Given the description of an element on the screen output the (x, y) to click on. 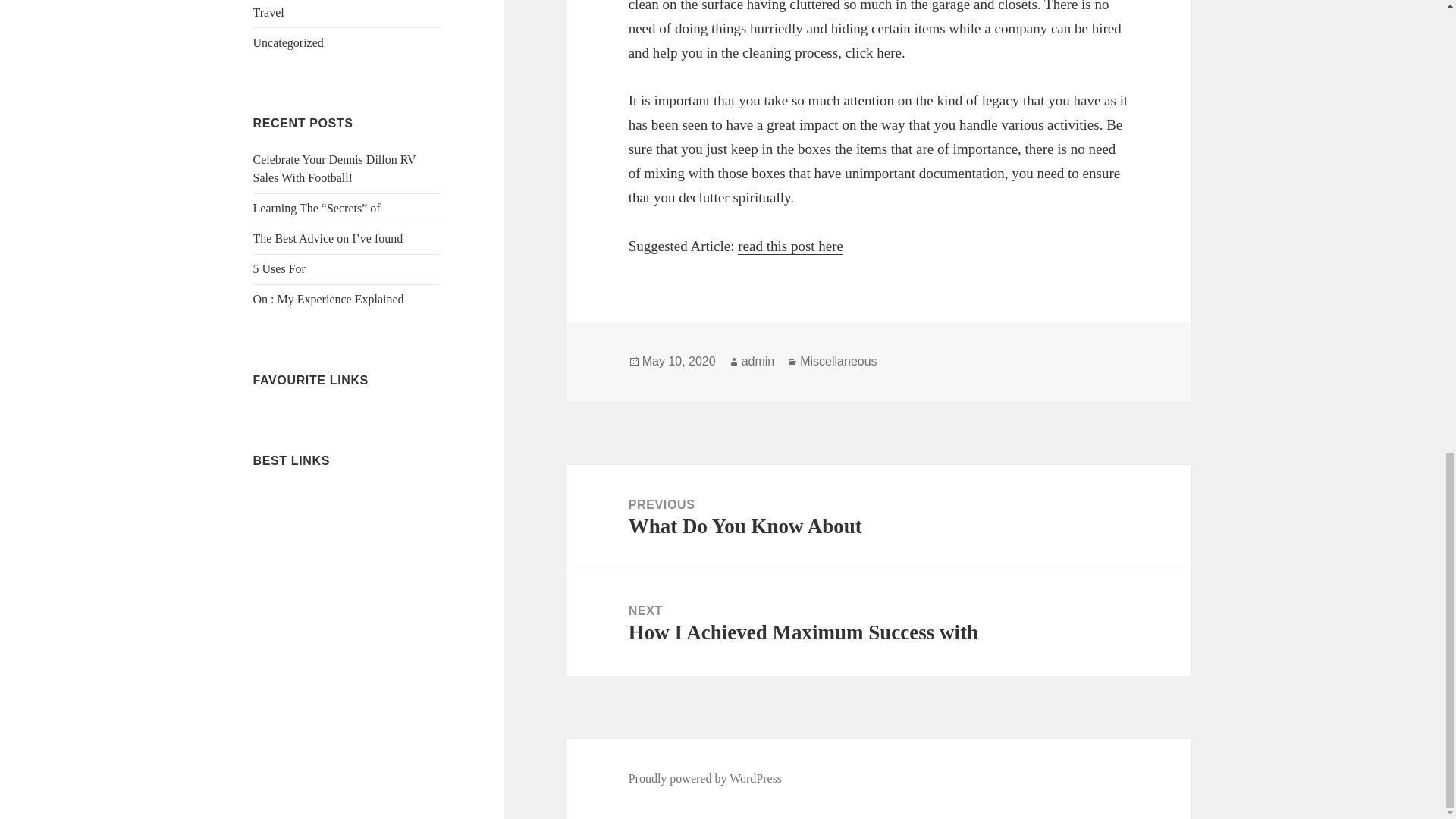
Travel (268, 11)
Celebrate Your Dennis Dillon RV Sales With Football! (334, 168)
On : My Experience Explained (328, 298)
May 10, 2020 (679, 361)
Uncategorized (288, 42)
5 Uses For (279, 268)
read this post here (790, 246)
Miscellaneous (837, 361)
admin (757, 361)
